Given the description of an element on the screen output the (x, y) to click on. 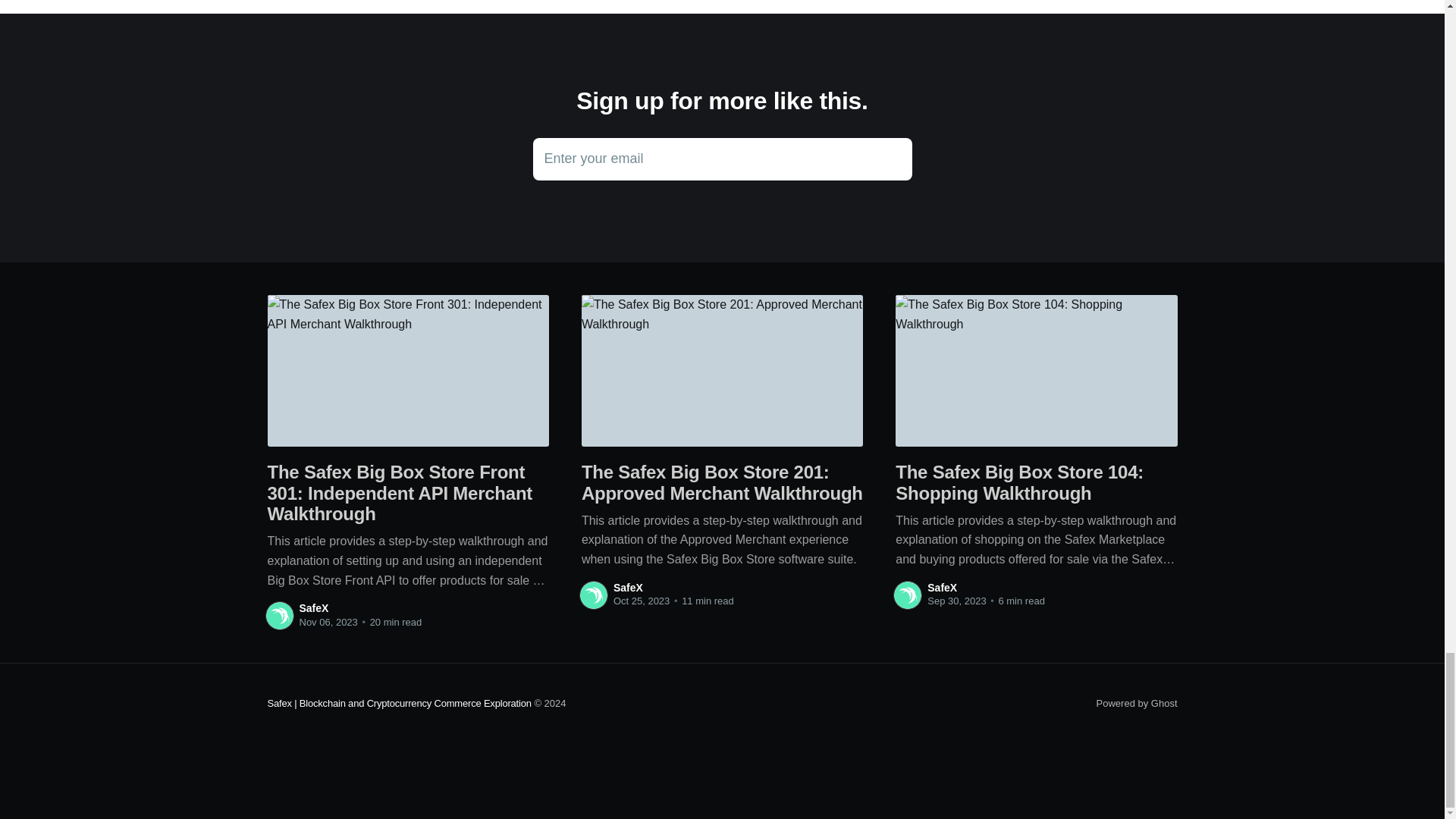
SafeX (721, 159)
Powered by Ghost (627, 587)
SafeX (1136, 703)
SafeX (313, 607)
